Given the description of an element on the screen output the (x, y) to click on. 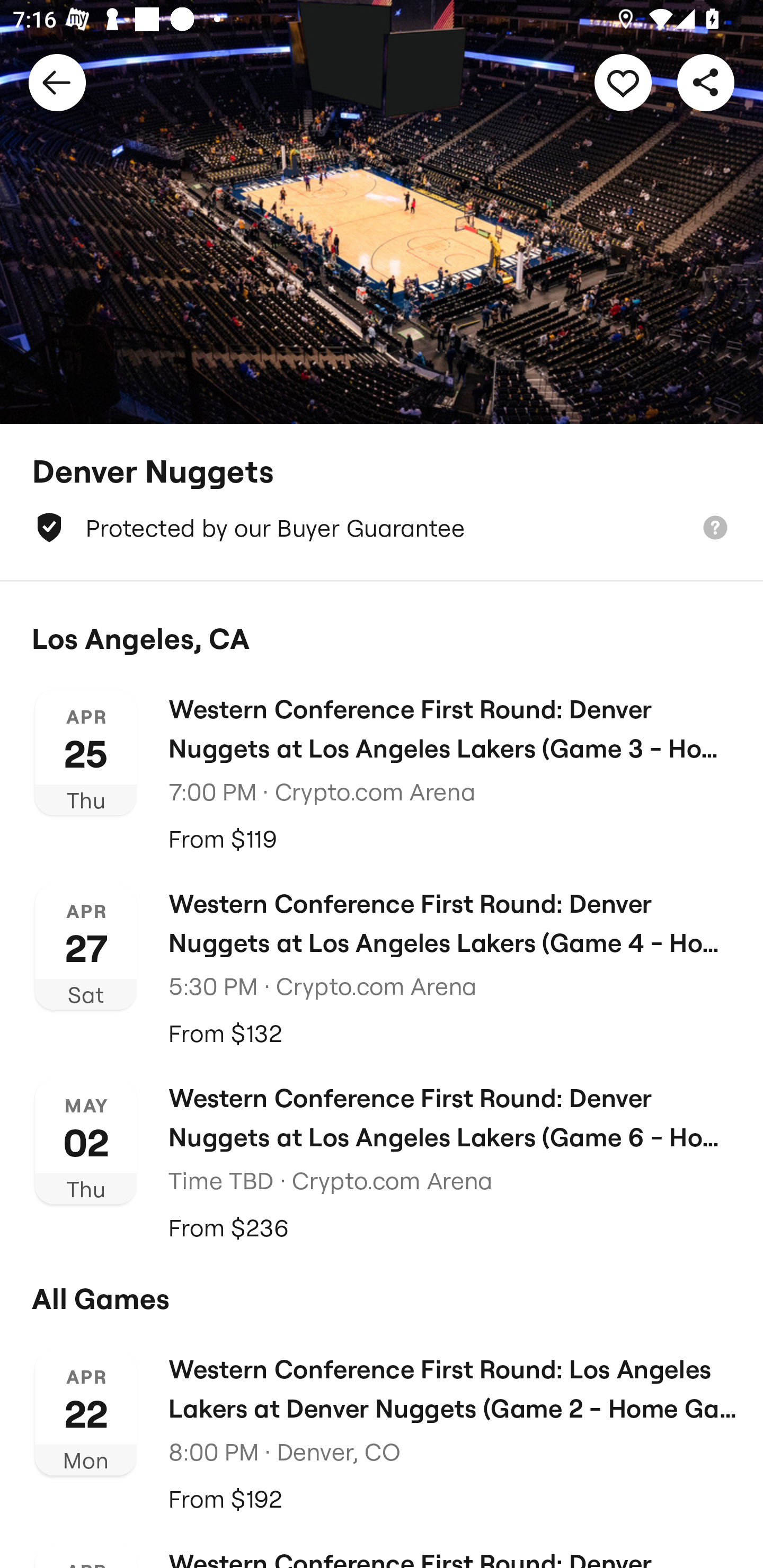
Back (57, 81)
Track this performer (623, 81)
Share this performer (705, 81)
Protected by our Buyer Guarantee Learn more (381, 527)
